Given the description of an element on the screen output the (x, y) to click on. 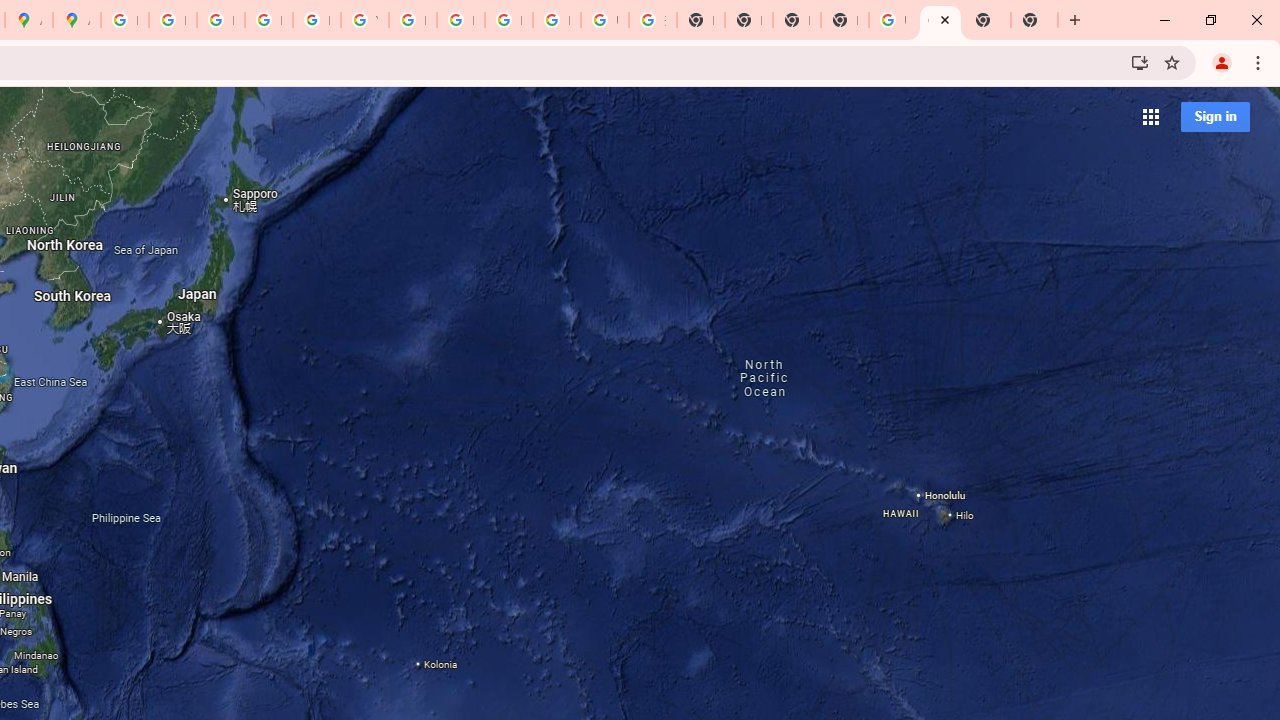
Privacy Help Center - Policies Help (220, 20)
Google apps (1150, 115)
Use Google Maps in Space - Google Maps Help (892, 20)
Bookmark this tab (1171, 62)
Privacy Help Center - Policies Help (172, 20)
New Tab (1075, 20)
Chrome (1260, 62)
Policy Accountability and Transparency - Transparency Center (124, 20)
Minimize (1165, 20)
You (1221, 62)
